Given the description of an element on the screen output the (x, y) to click on. 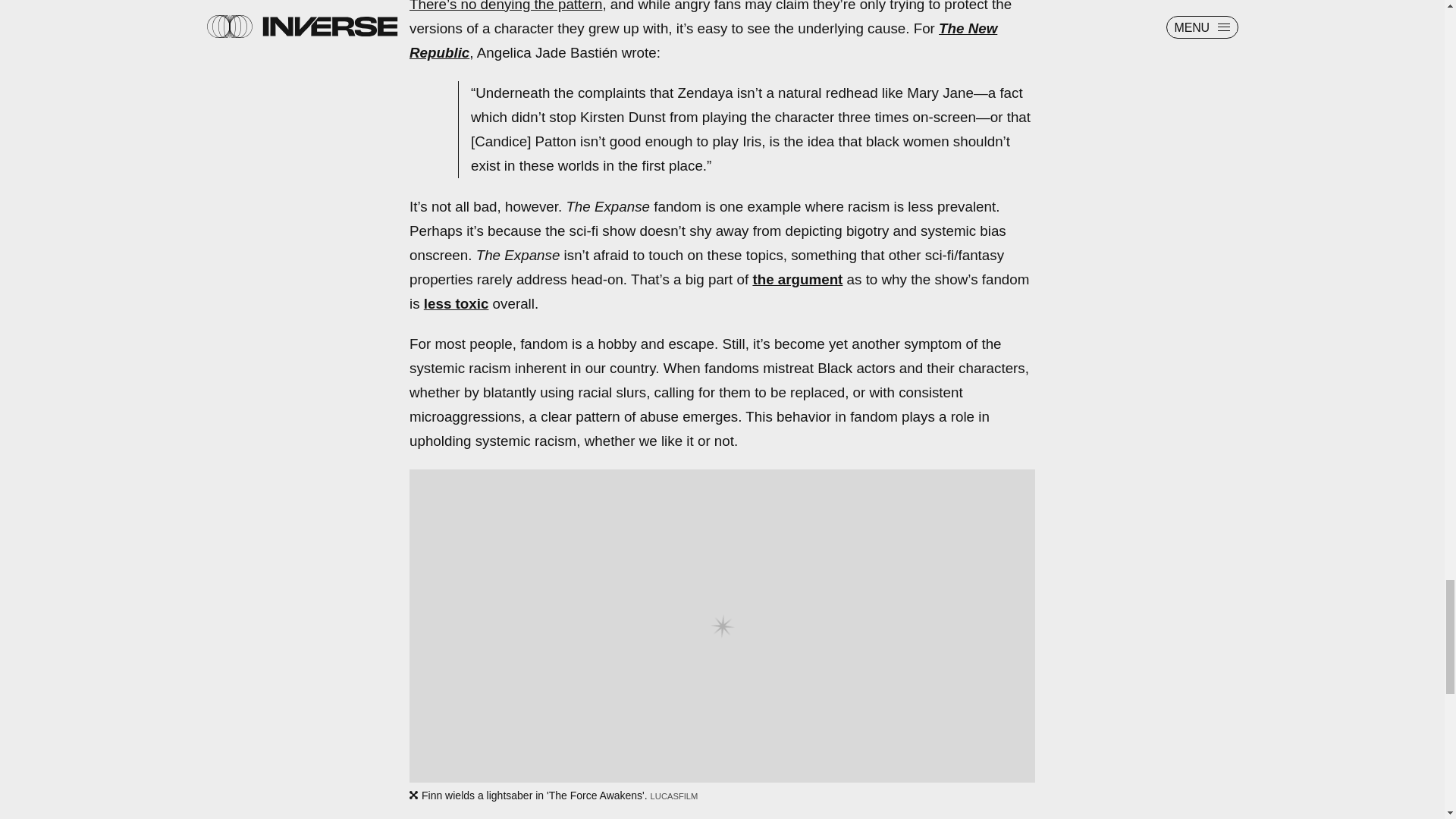
The New Republic (703, 40)
the argument (797, 279)
less toxic (456, 303)
